Given the description of an element on the screen output the (x, y) to click on. 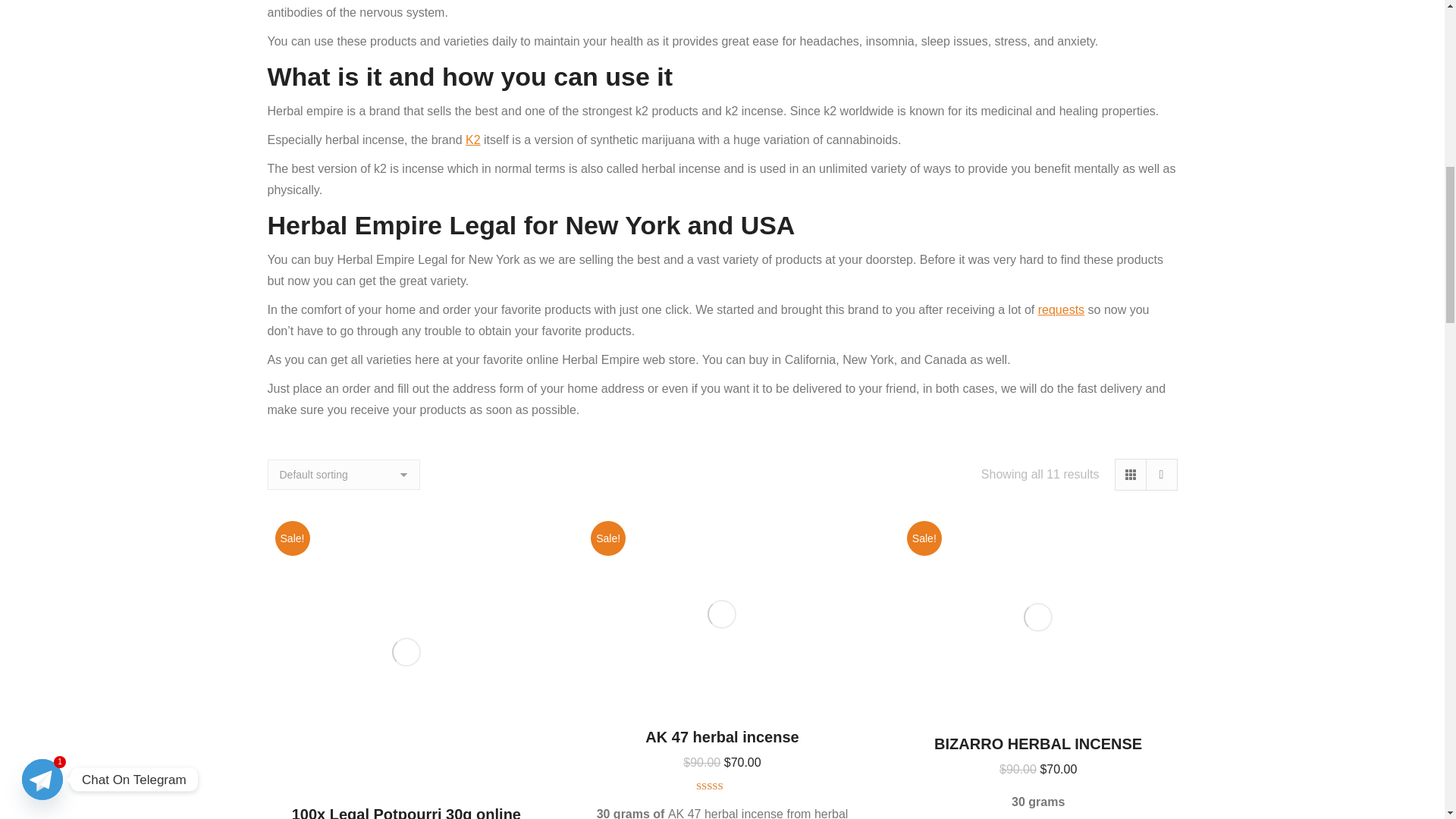
BIZARRO HERBAL INCENSE (1037, 743)
AK 47 herbal incense (721, 736)
100x Legal Potpourri 30g online (406, 812)
